Given the description of an element on the screen output the (x, y) to click on. 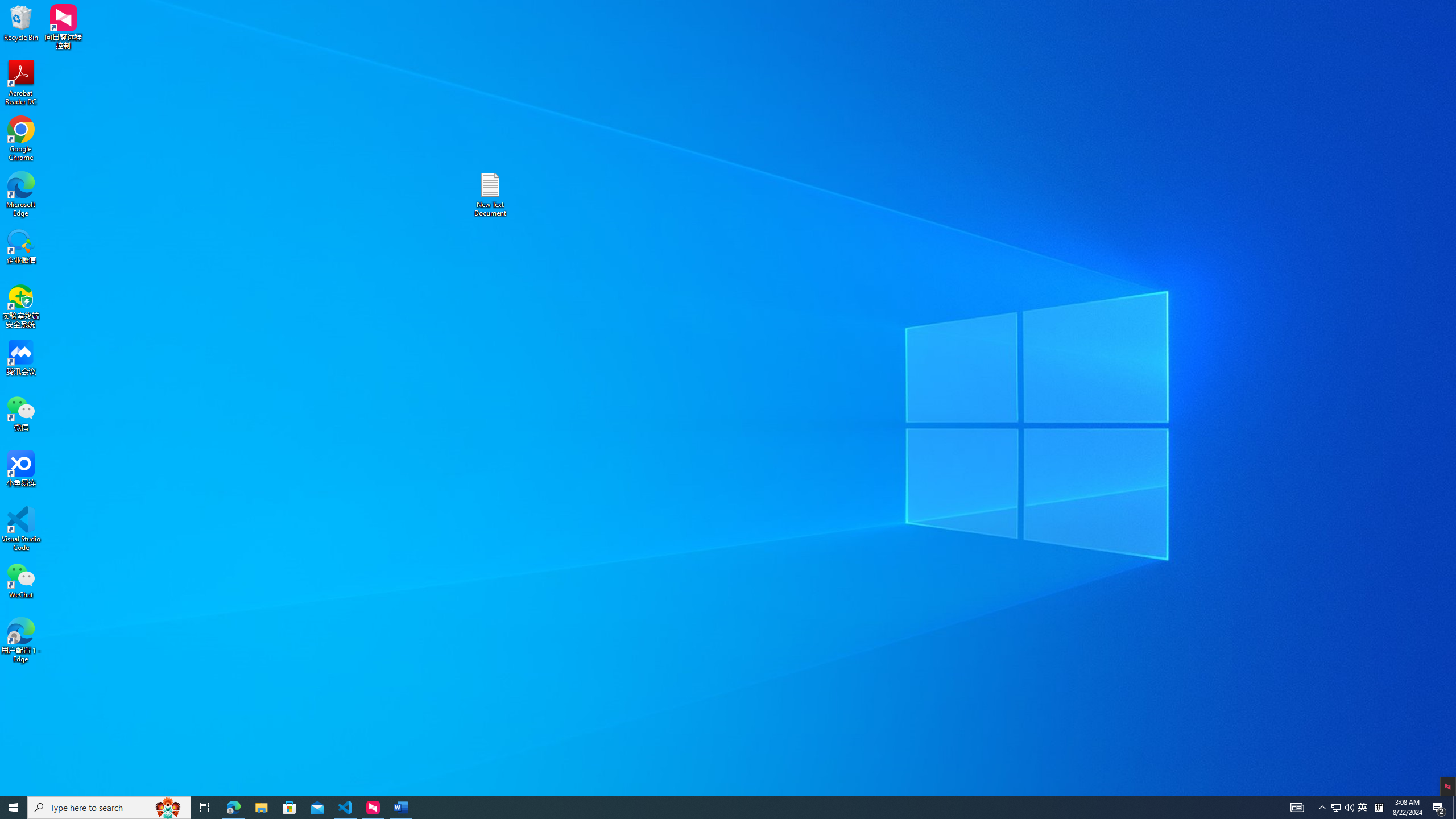
Start (13, 807)
Select (1157, 69)
Notification Chevron (1322, 807)
Intense Quote (932, 56)
